Given the description of an element on the screen output the (x, y) to click on. 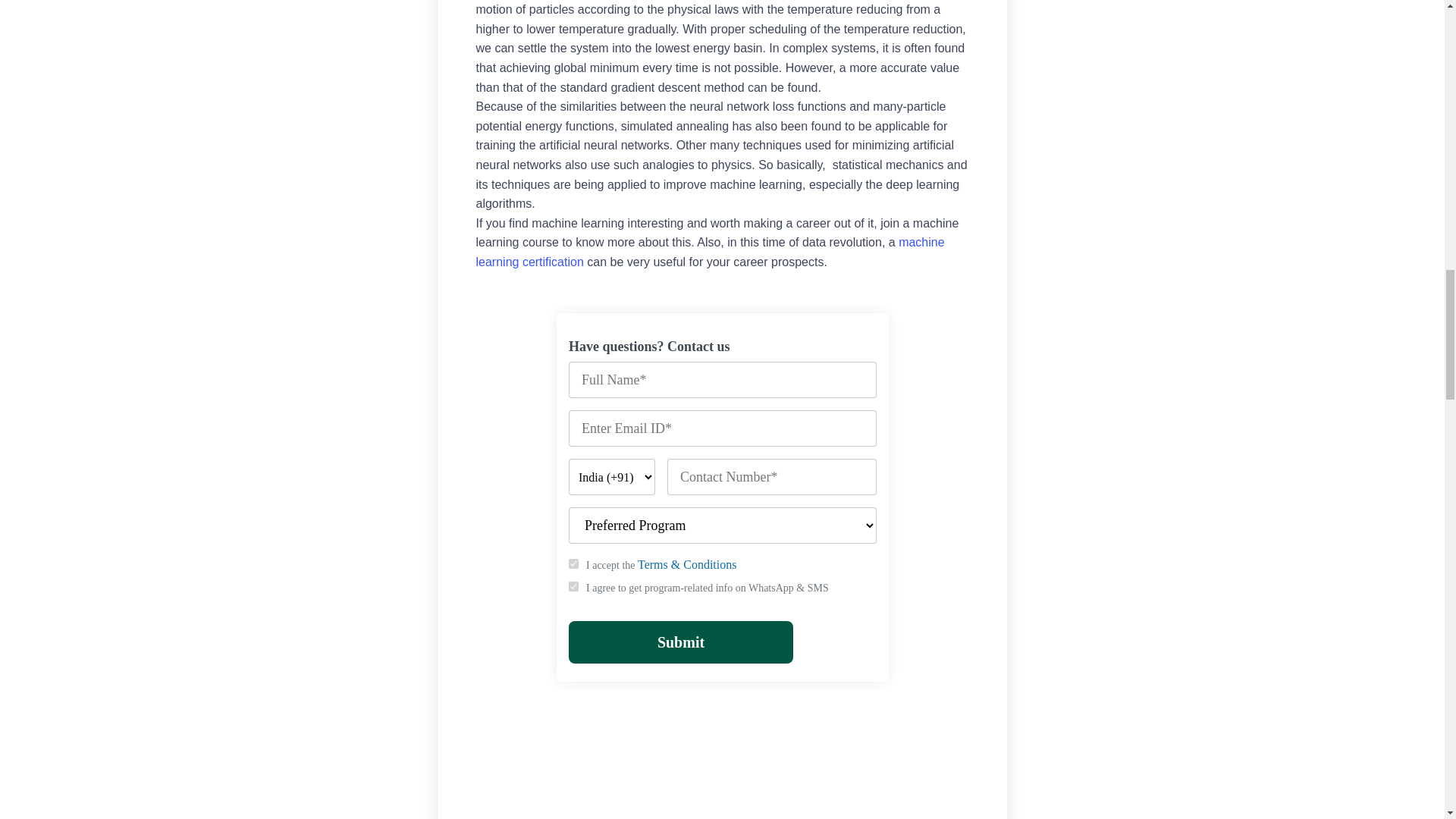
machine learning certification (710, 251)
